Given the description of an element on the screen output the (x, y) to click on. 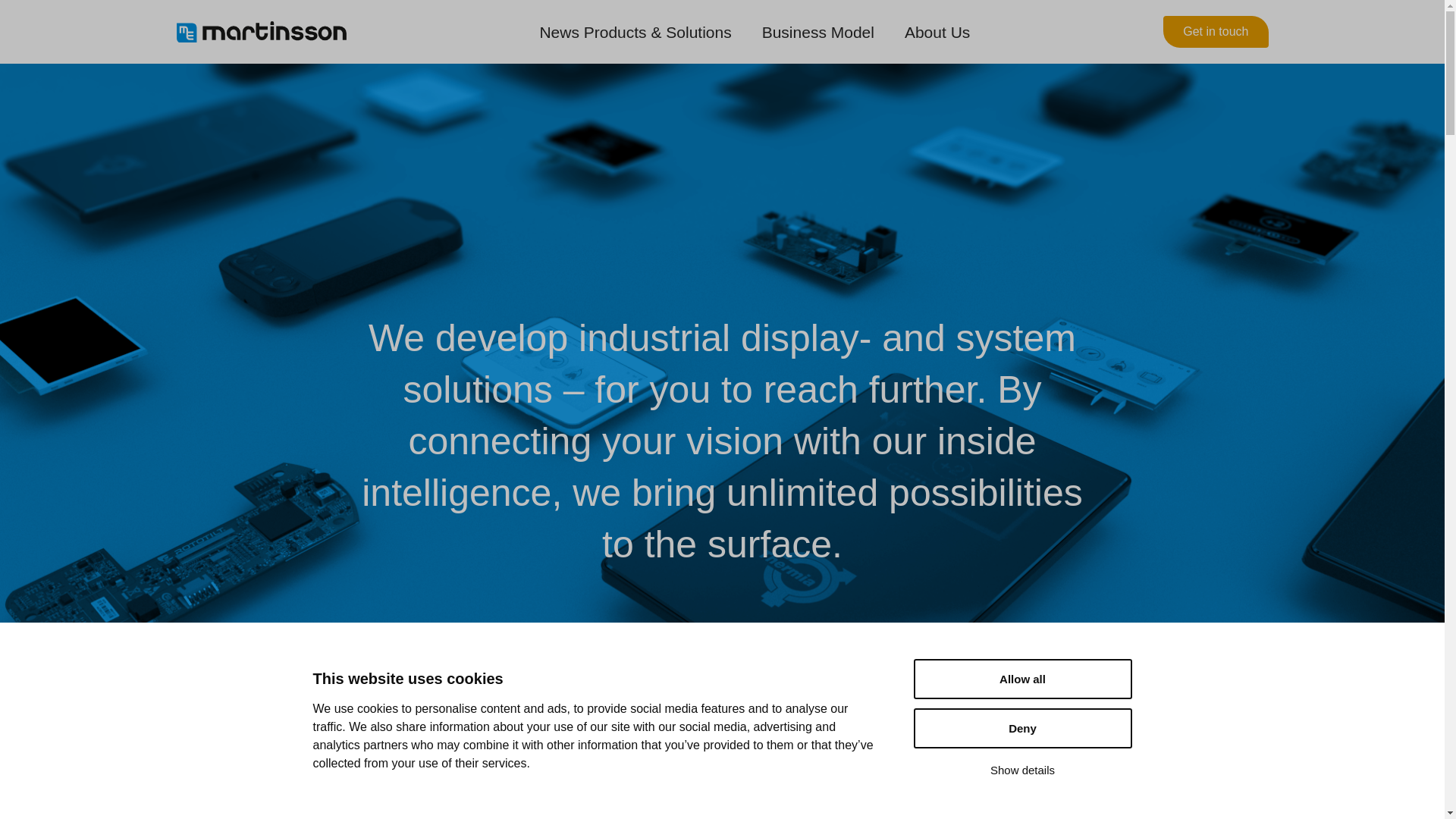
Show details (1021, 816)
Allow all (1021, 749)
Deny (1021, 790)
